Given the description of an element on the screen output the (x, y) to click on. 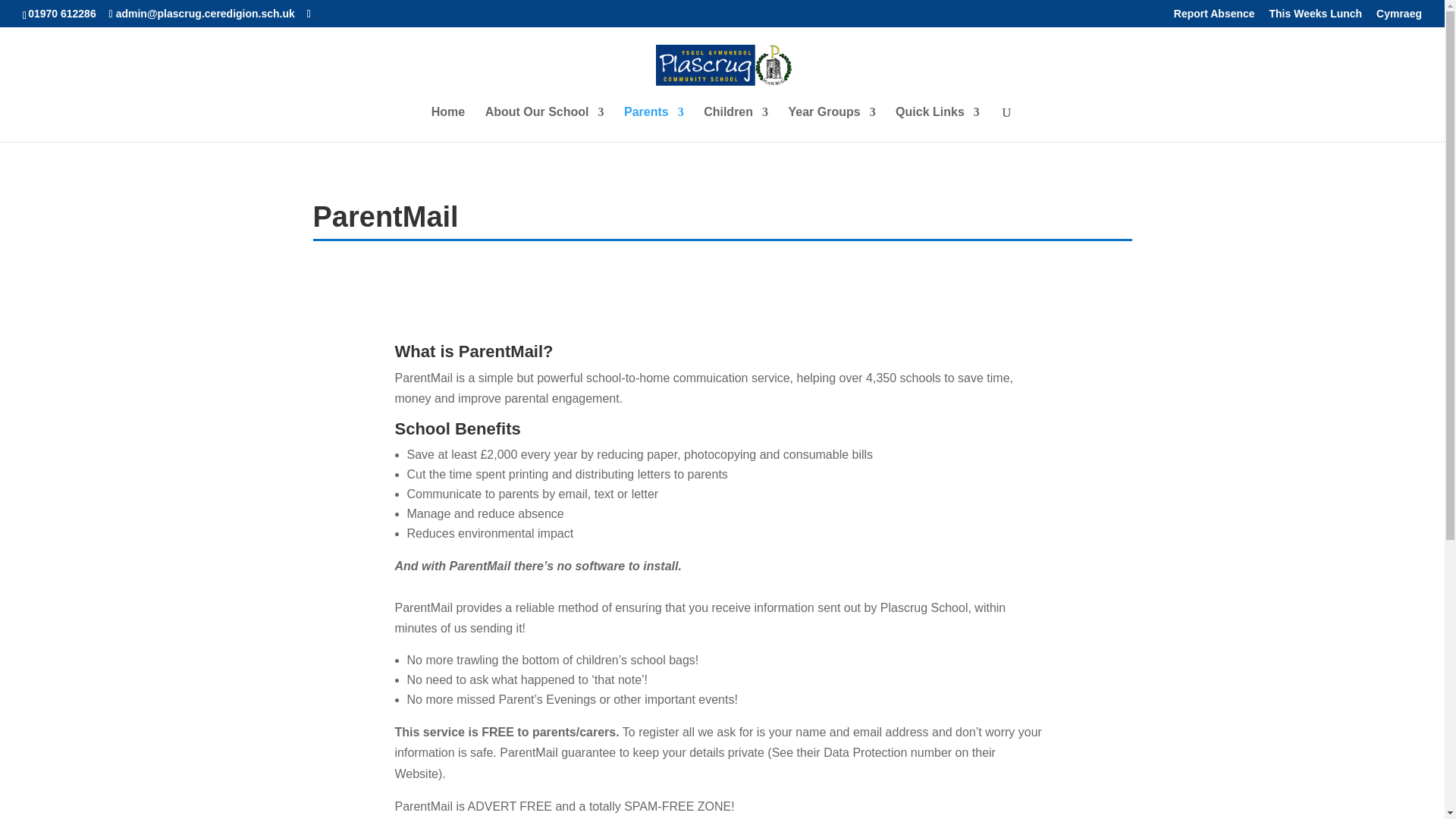
Year Groups (831, 124)
Report Absence (1214, 16)
Cymraeg (1398, 16)
Children (735, 124)
About Our School (544, 124)
Cymraeg (1398, 16)
Home (447, 124)
This Weeks Lunch (1315, 16)
Parents (654, 124)
